Given the description of an element on the screen output the (x, y) to click on. 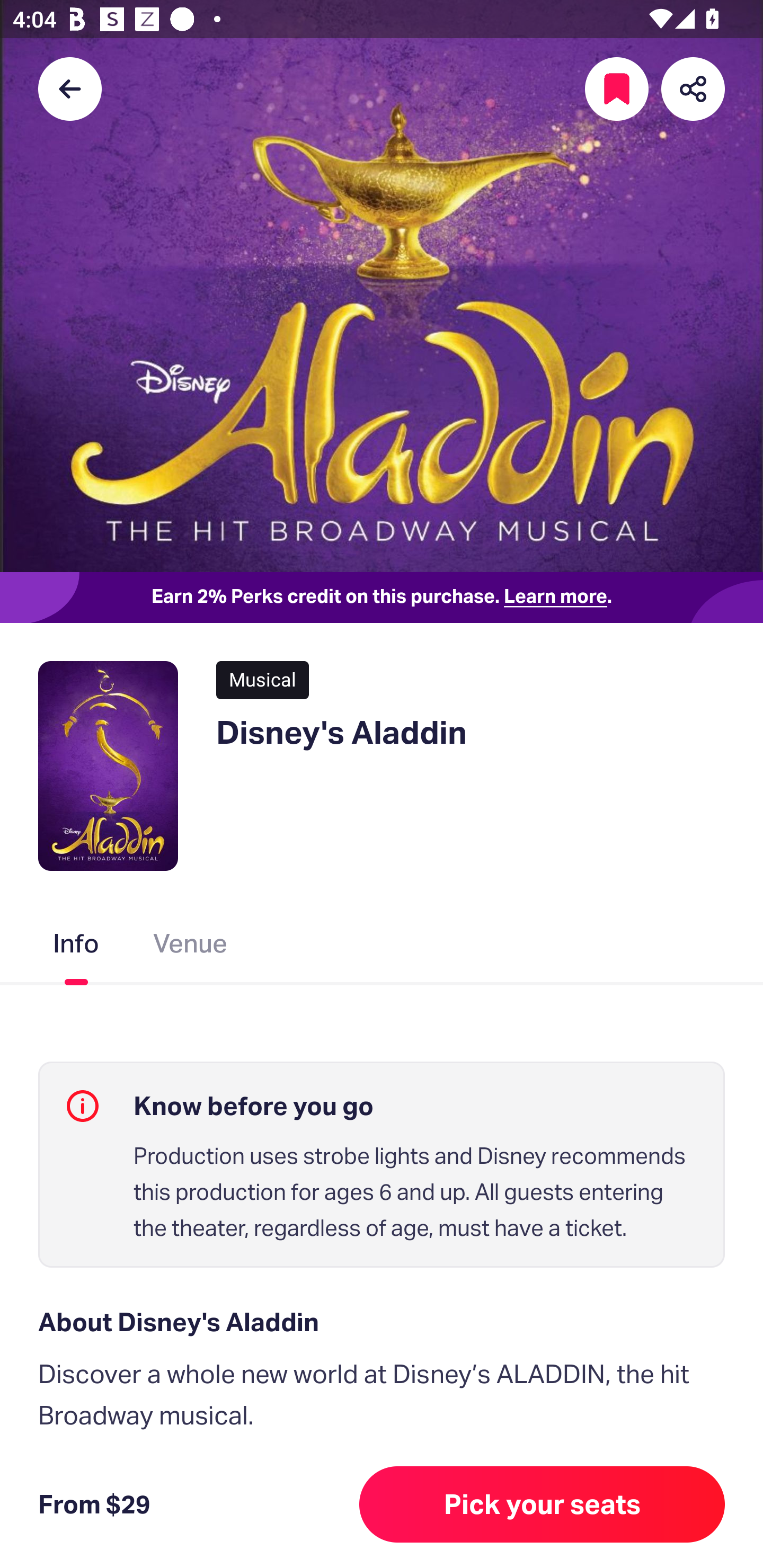
Earn 2% Perks credit on this purchase. Learn more. (381, 597)
Venue (190, 946)
About Disney's Aladdin (381, 1322)
Pick your seats (541, 1504)
